Given the description of an element on the screen output the (x, y) to click on. 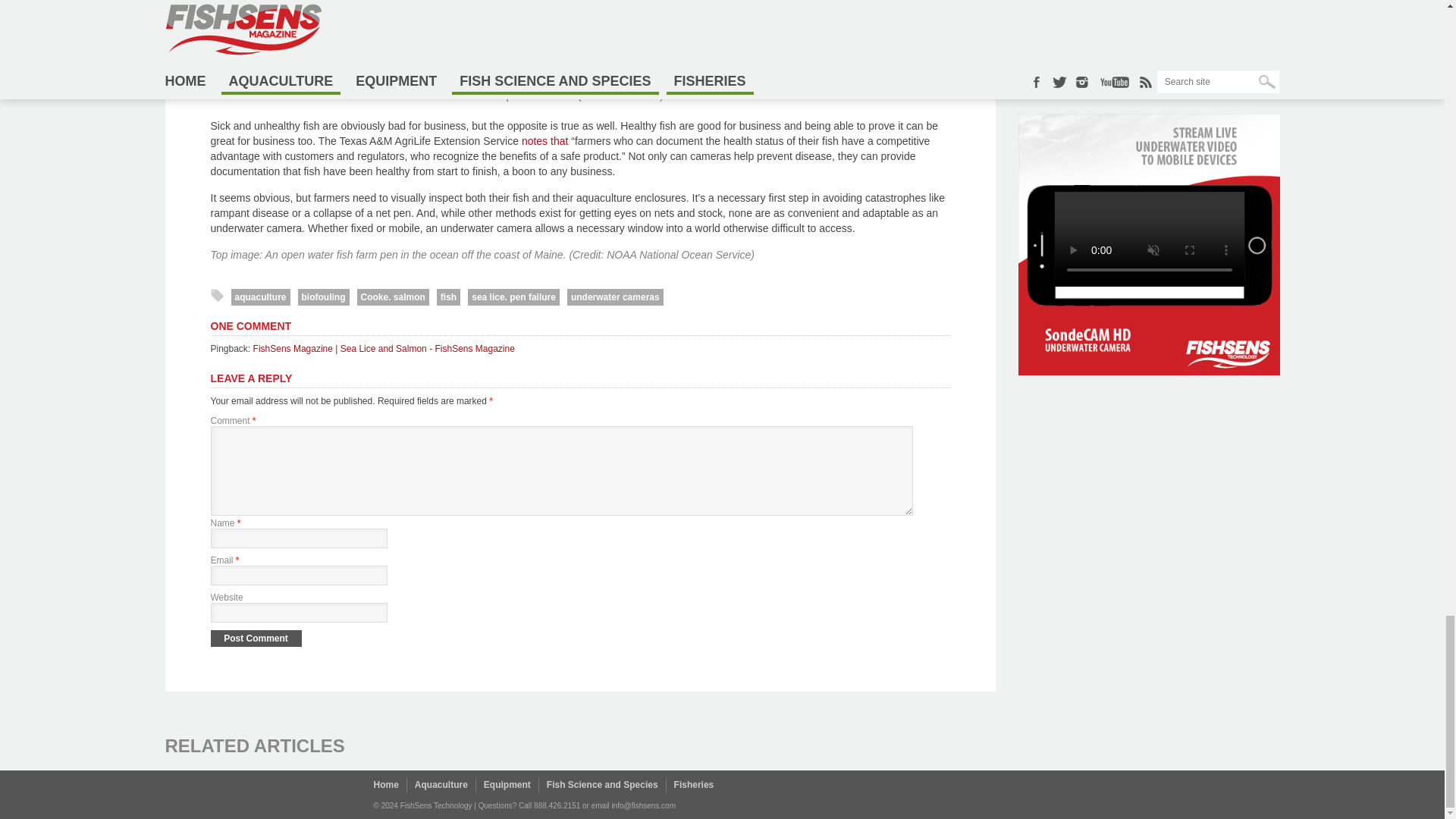
Fish Science and Species (602, 784)
aquaculture (259, 297)
fish (448, 297)
Fisheries (694, 784)
underwater cameras (615, 297)
Equipment (507, 784)
biofouling (323, 297)
Aquaculture (440, 784)
Cooke. salmon (392, 297)
sea lice. pen failure (513, 297)
